Given the description of an element on the screen output the (x, y) to click on. 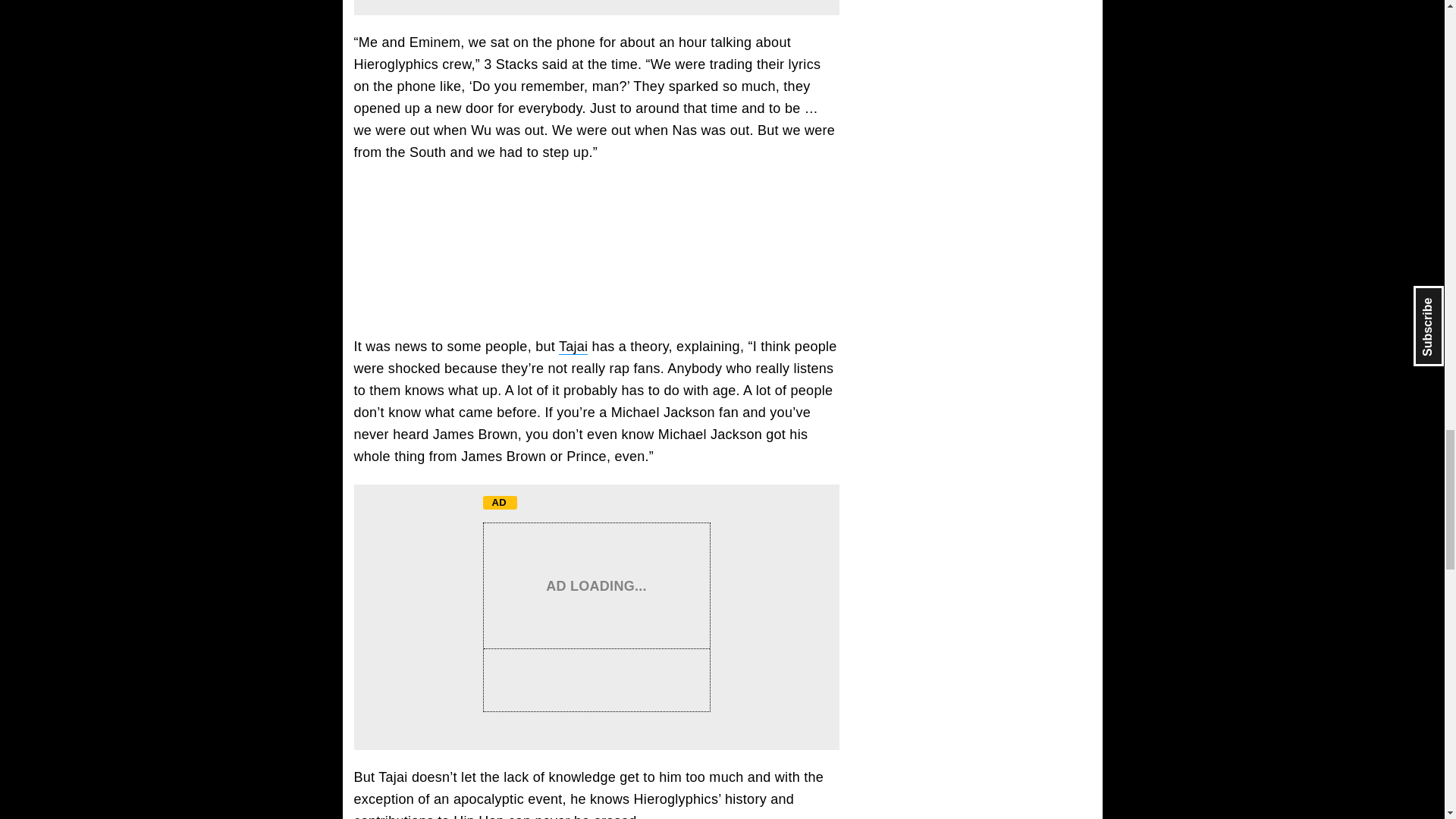
Tajai (573, 346)
